Given the description of an element on the screen output the (x, y) to click on. 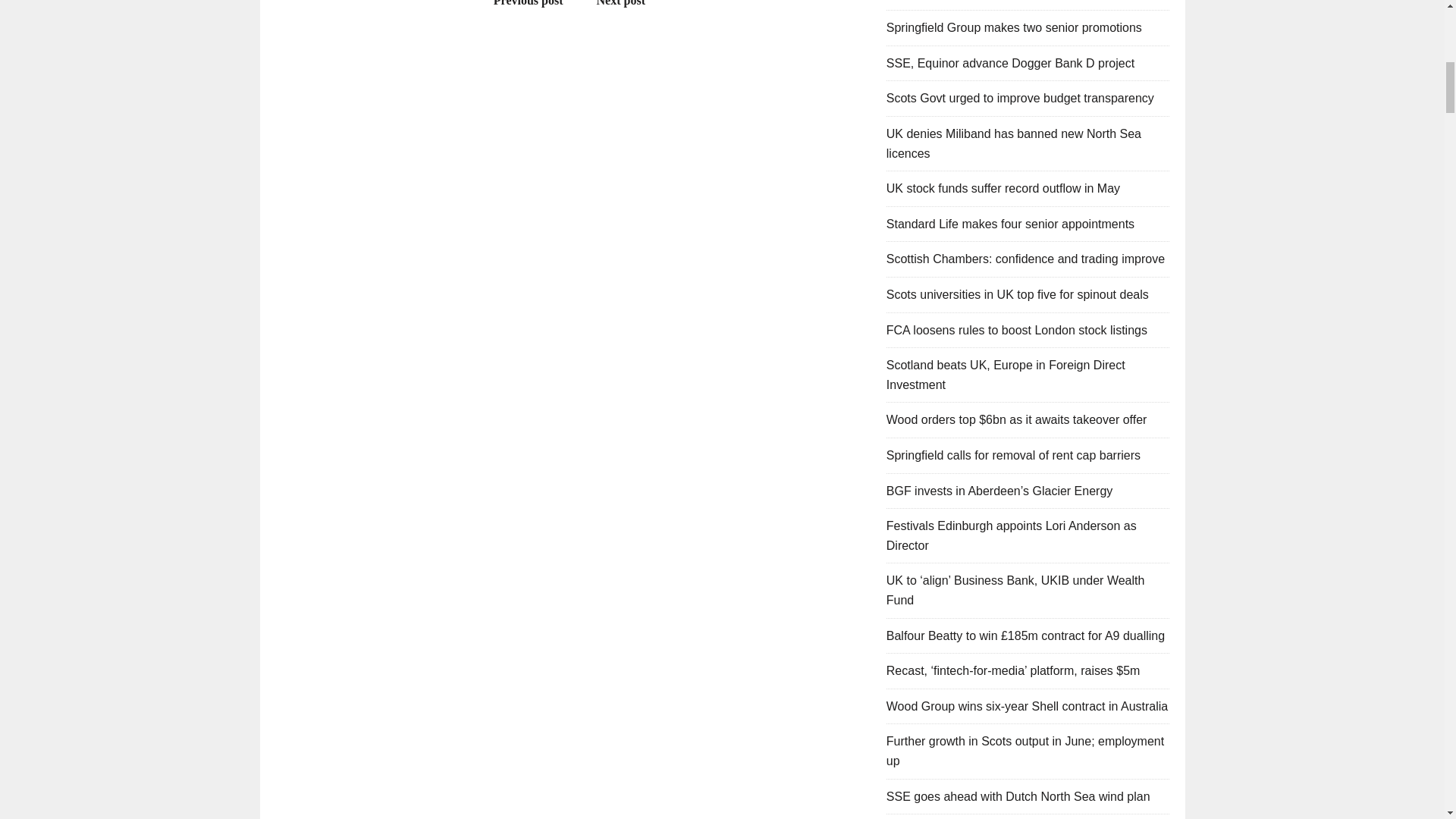
Previous post (521, 3)
Next post (628, 3)
